Given the description of an element on the screen output the (x, y) to click on. 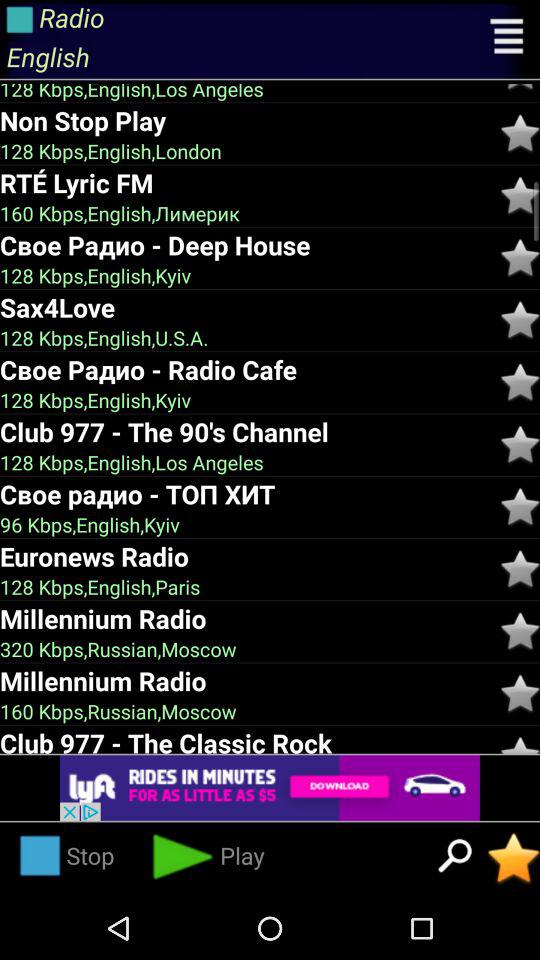
rating (520, 506)
